Given the description of an element on the screen output the (x, y) to click on. 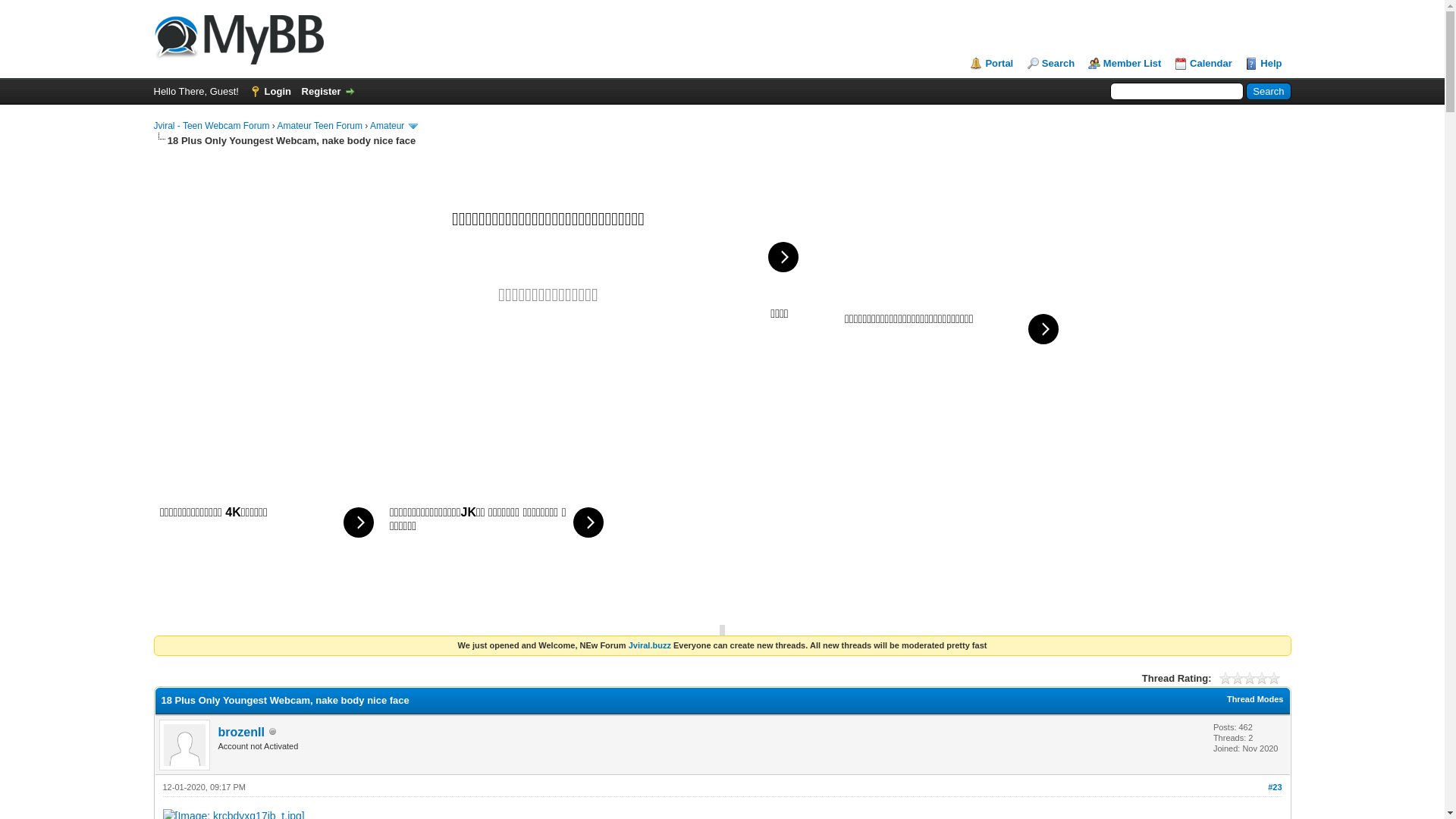
brozenII Element type: text (241, 731)
Jviral.buzz Element type: text (649, 644)
Search Element type: text (1050, 63)
Login Element type: text (270, 91)
1 Element type: text (1225, 677)
Amateur Element type: text (388, 125)
Jviral - Teen Webcam Forum Element type: text (211, 125)
Help Element type: text (1263, 63)
Jviral - Teen Webcam Forum Element type: hover (238, 35)
Thread Modes Element type: text (1254, 698)
4 Element type: text (1243, 677)
Register Element type: text (328, 91)
5 Element type: text (1249, 677)
#23 Element type: text (1274, 786)
Member List Element type: text (1124, 63)
Amateur Teen Forum Element type: text (319, 125)
2 Element type: text (1231, 677)
3 Element type: text (1237, 677)
Offline Element type: hover (272, 731)
Calendar Element type: text (1203, 63)
Portal Element type: text (991, 63)
Search Element type: text (1267, 91)
